Given the description of an element on the screen output the (x, y) to click on. 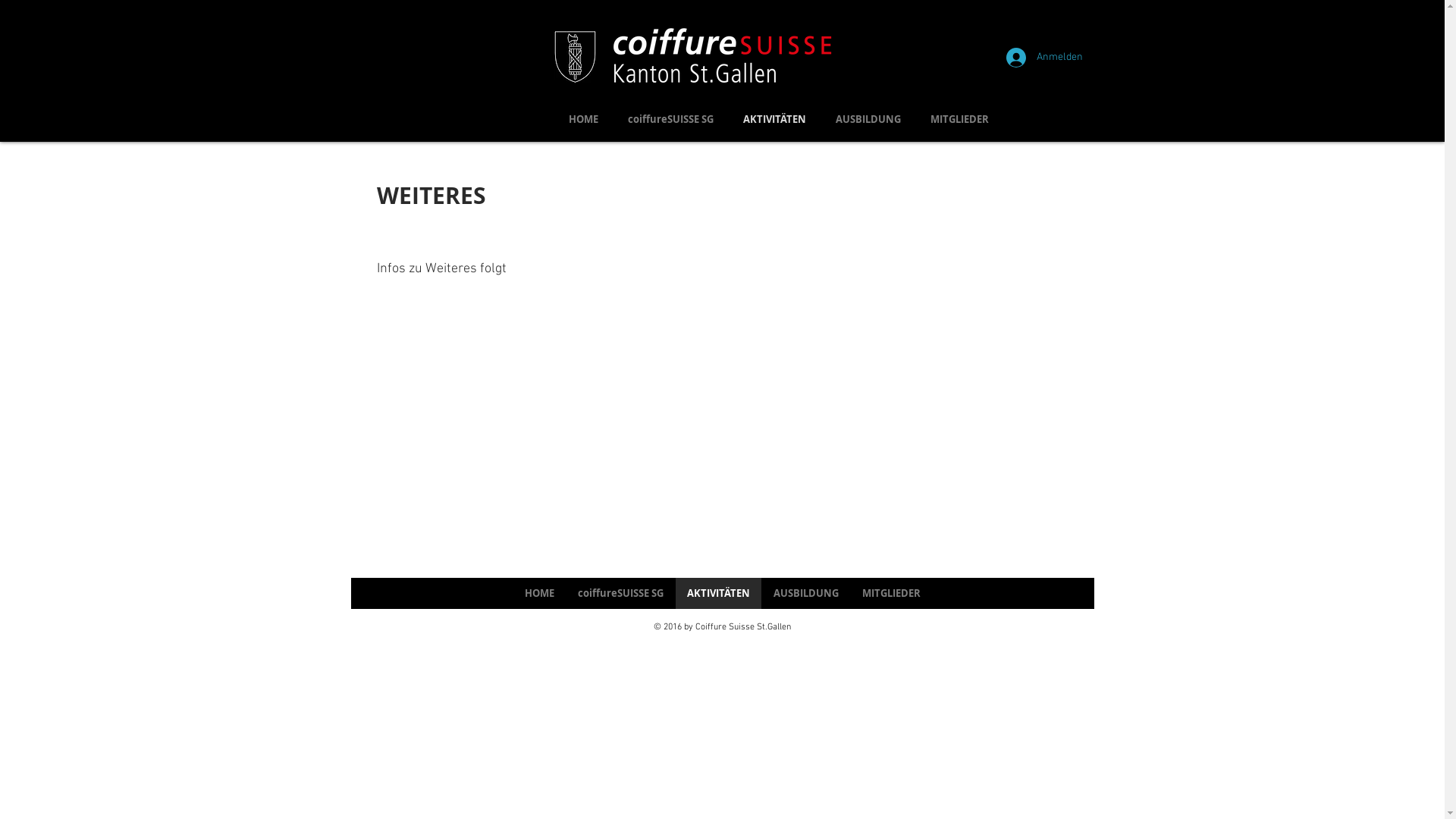
Anmelden Element type: text (1039, 57)
logo_coiffure-suisse-negativ.png Element type: hover (721, 56)
MITGLIEDER Element type: text (890, 592)
AUSBILDUNG Element type: text (805, 592)
AUSBILDUNG Element type: text (867, 118)
HOME Element type: text (582, 118)
HOME Element type: text (538, 592)
coiffureSUISSE SG Element type: text (619, 592)
MITGLIEDER Element type: text (960, 118)
coiffureSUISSE SG Element type: text (670, 118)
